Given the description of an element on the screen output the (x, y) to click on. 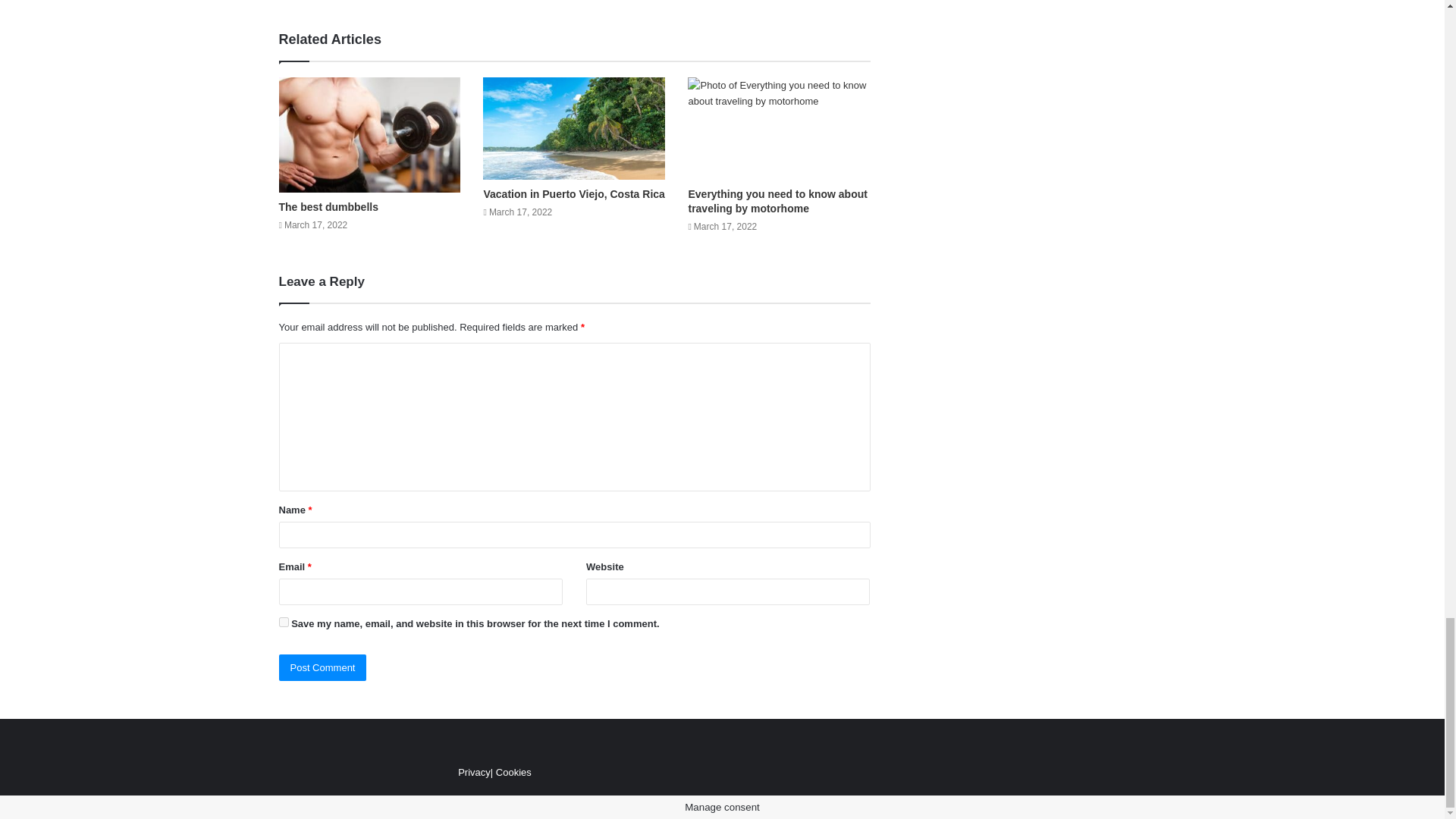
Post Comment (322, 667)
The best dumbbells (328, 206)
Post Comment (322, 667)
Everything you need to know about traveling by motorhome (776, 201)
yes (283, 622)
Vacation in Puerto Viejo, Costa Rica (573, 193)
